Given the description of an element on the screen output the (x, y) to click on. 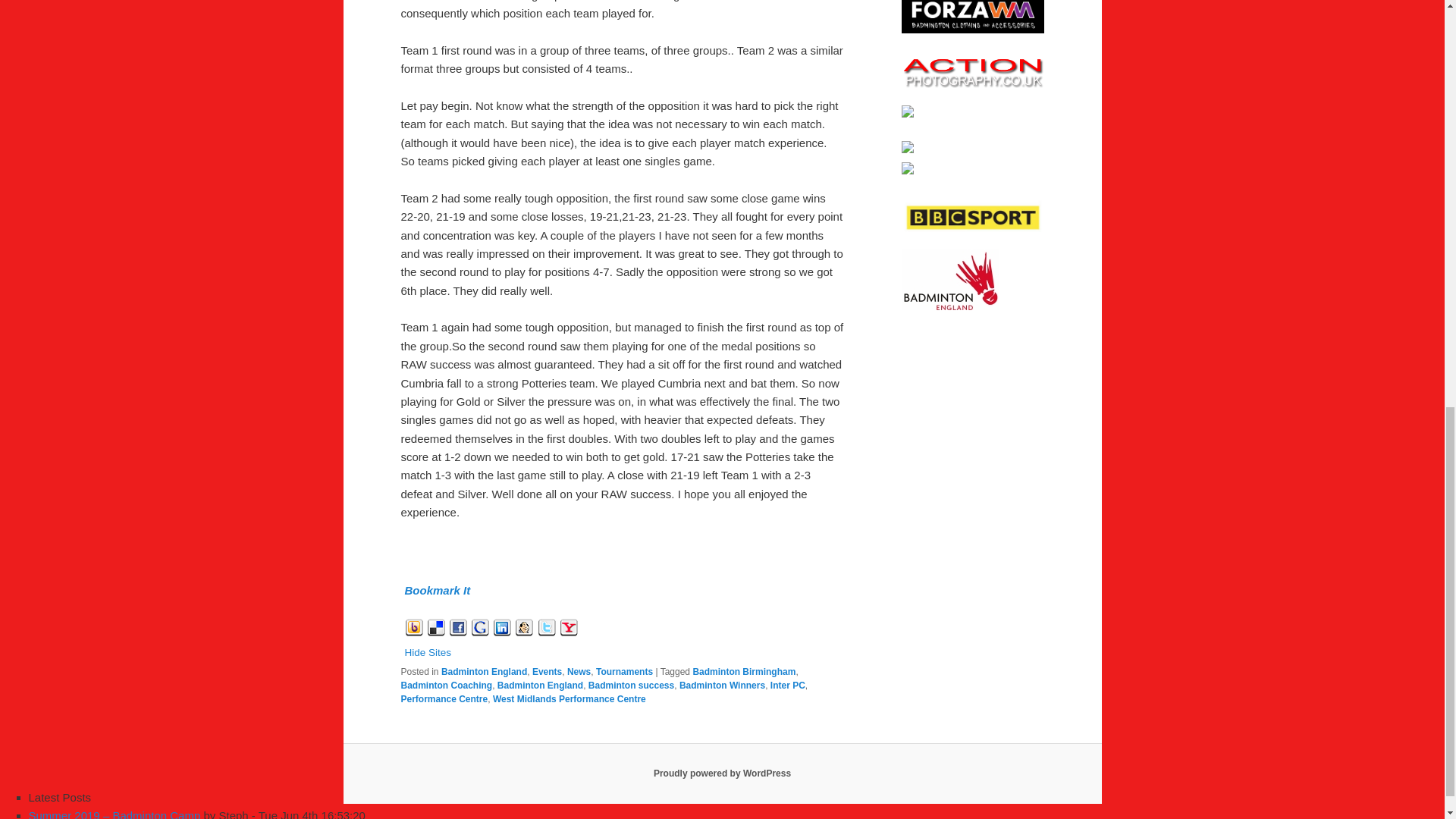
Click me to see the sites. (437, 590)
